Given the description of an element on the screen output the (x, y) to click on. 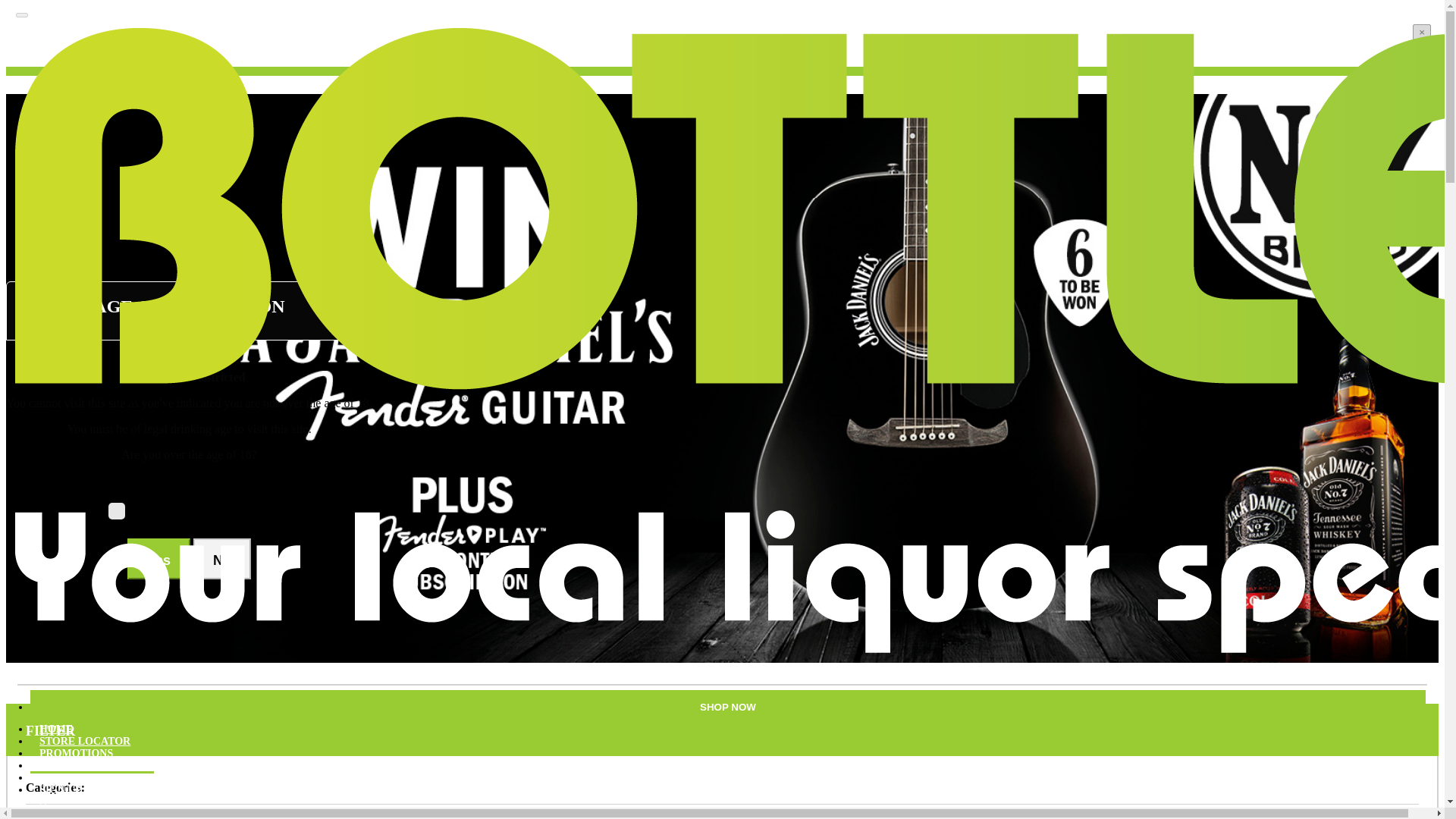
CATALOGUE (72, 778)
STORE LOCATOR (84, 742)
SHOP NOW (727, 706)
Toggle navigation (21, 15)
Yes (159, 558)
SIGN UP (60, 790)
Connect with Bottler on Facebook (43, 809)
IN-STORE SPECIALS (92, 766)
Find a bottle shop near me (84, 742)
HOME (55, 730)
PROMOTIONS (76, 754)
